Given the description of an element on the screen output the (x, y) to click on. 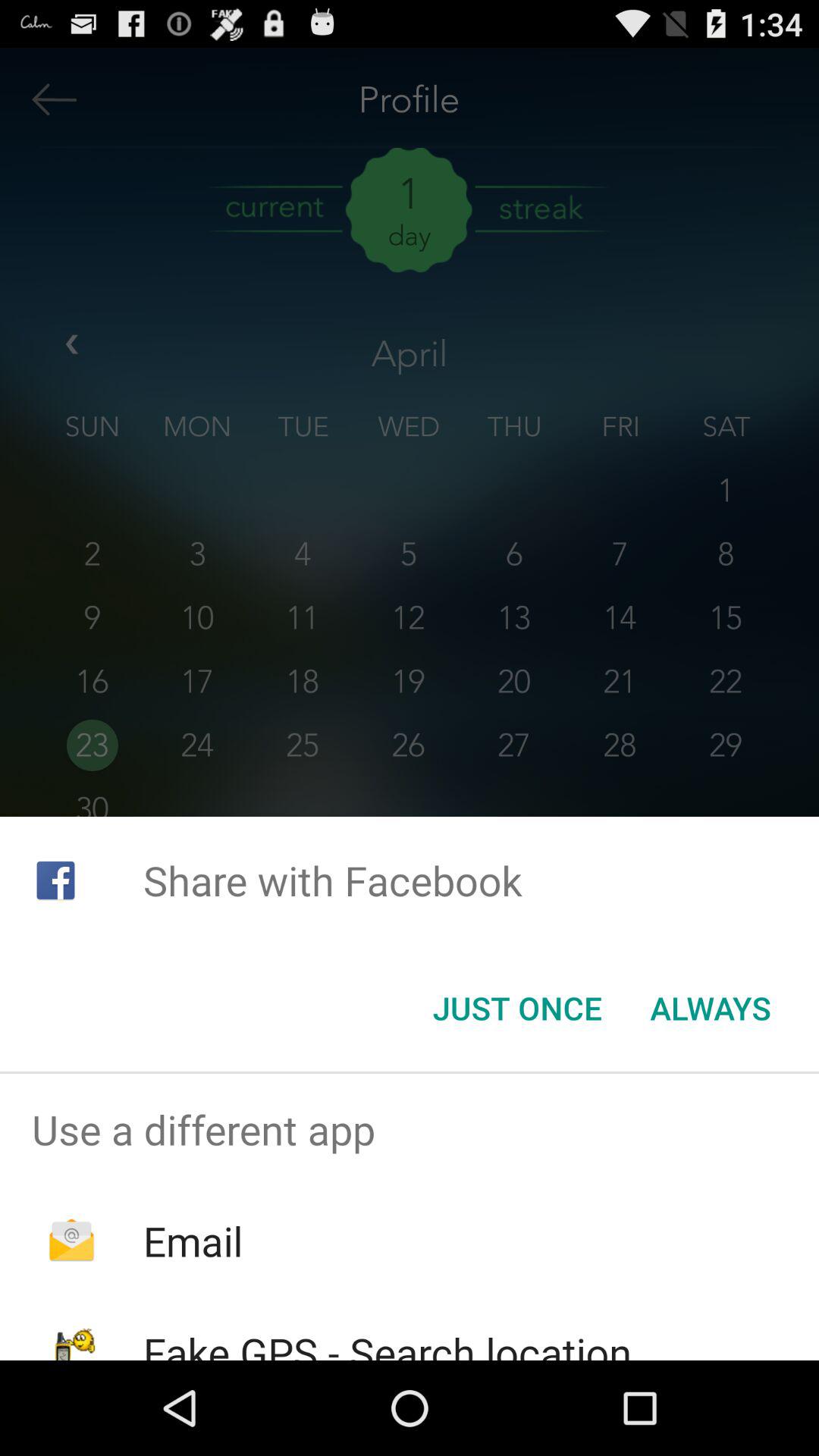
click the icon below share with facebook icon (710, 1007)
